Given the description of an element on the screen output the (x, y) to click on. 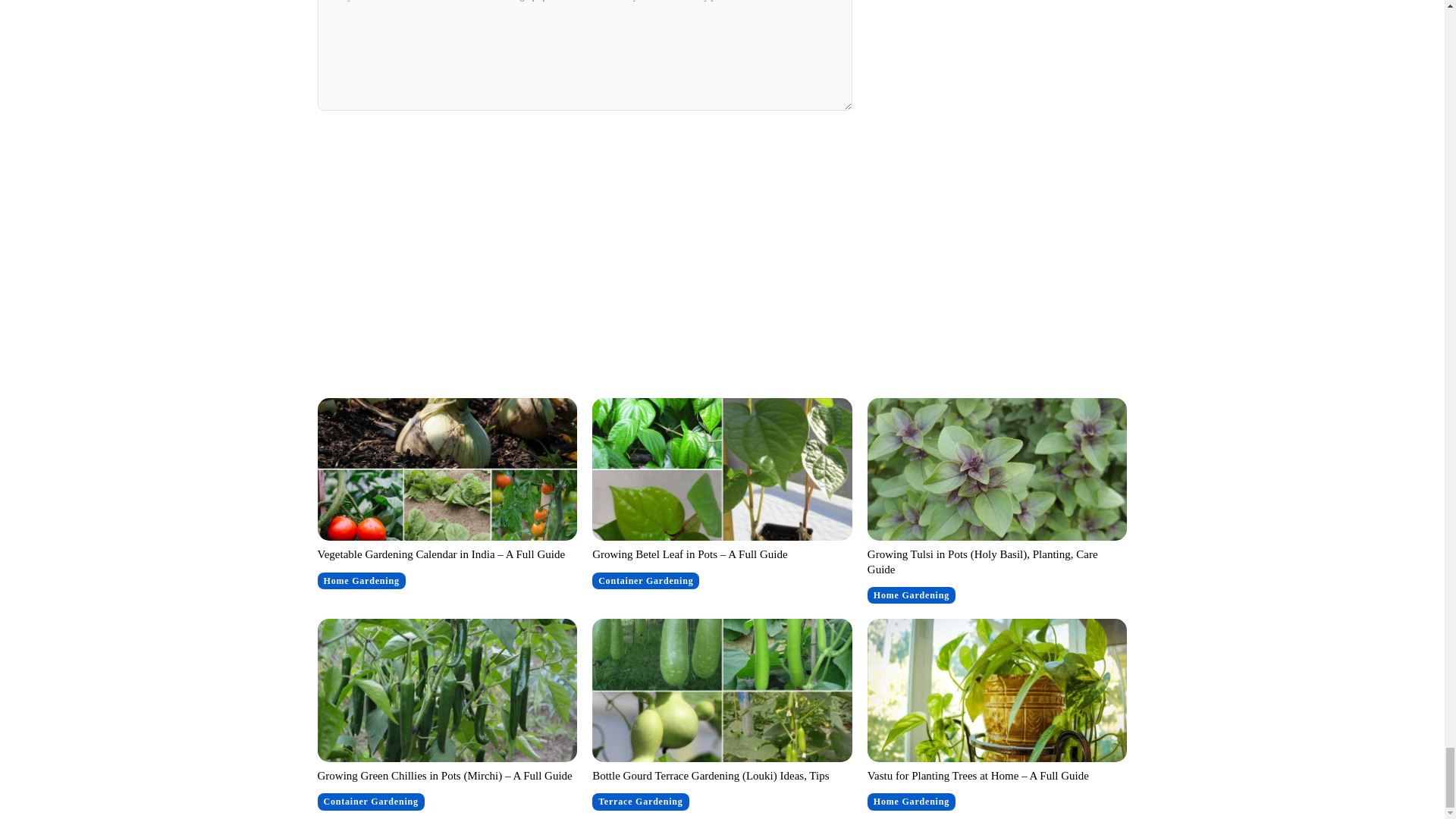
Post Comment (584, 140)
